Given the description of an element on the screen output the (x, y) to click on. 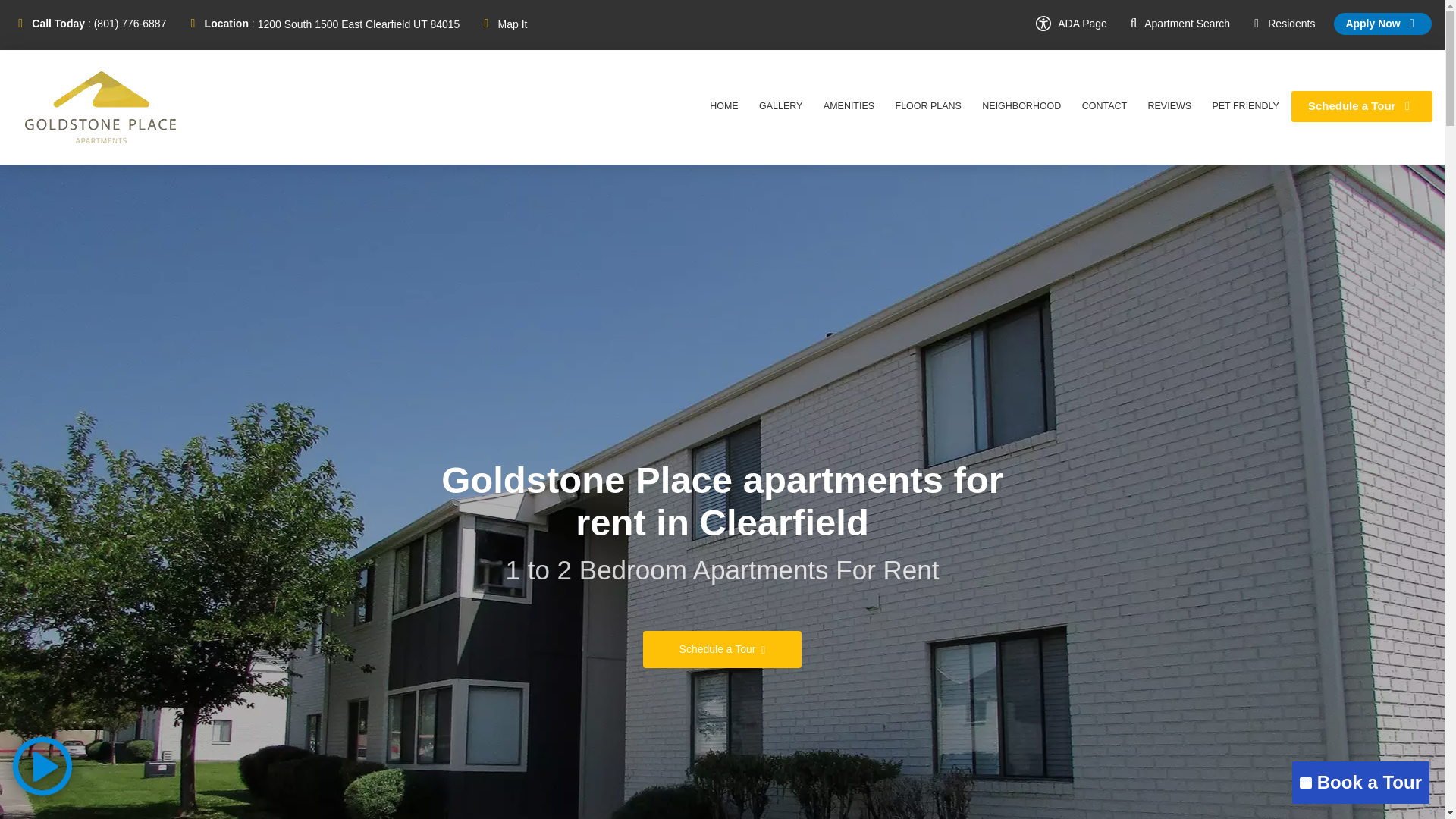
Map It (512, 24)
Goldstone Place in Clearfield, UT (100, 106)
AMENITIES (849, 106)
Schedule a Tour   (722, 649)
PET FRIENDLY (1245, 106)
CONTACT (1104, 106)
HOME (723, 106)
Schedule a Tour (1361, 105)
REVIEWS (1168, 106)
Apartment Search (1177, 23)
1200 South 1500 East Clearfield UT 84015 (358, 24)
ADA Page (1070, 23)
Residents (1281, 23)
Apply Now (1382, 24)
NEIGHBORHOOD (1021, 106)
